Given the description of an element on the screen output the (x, y) to click on. 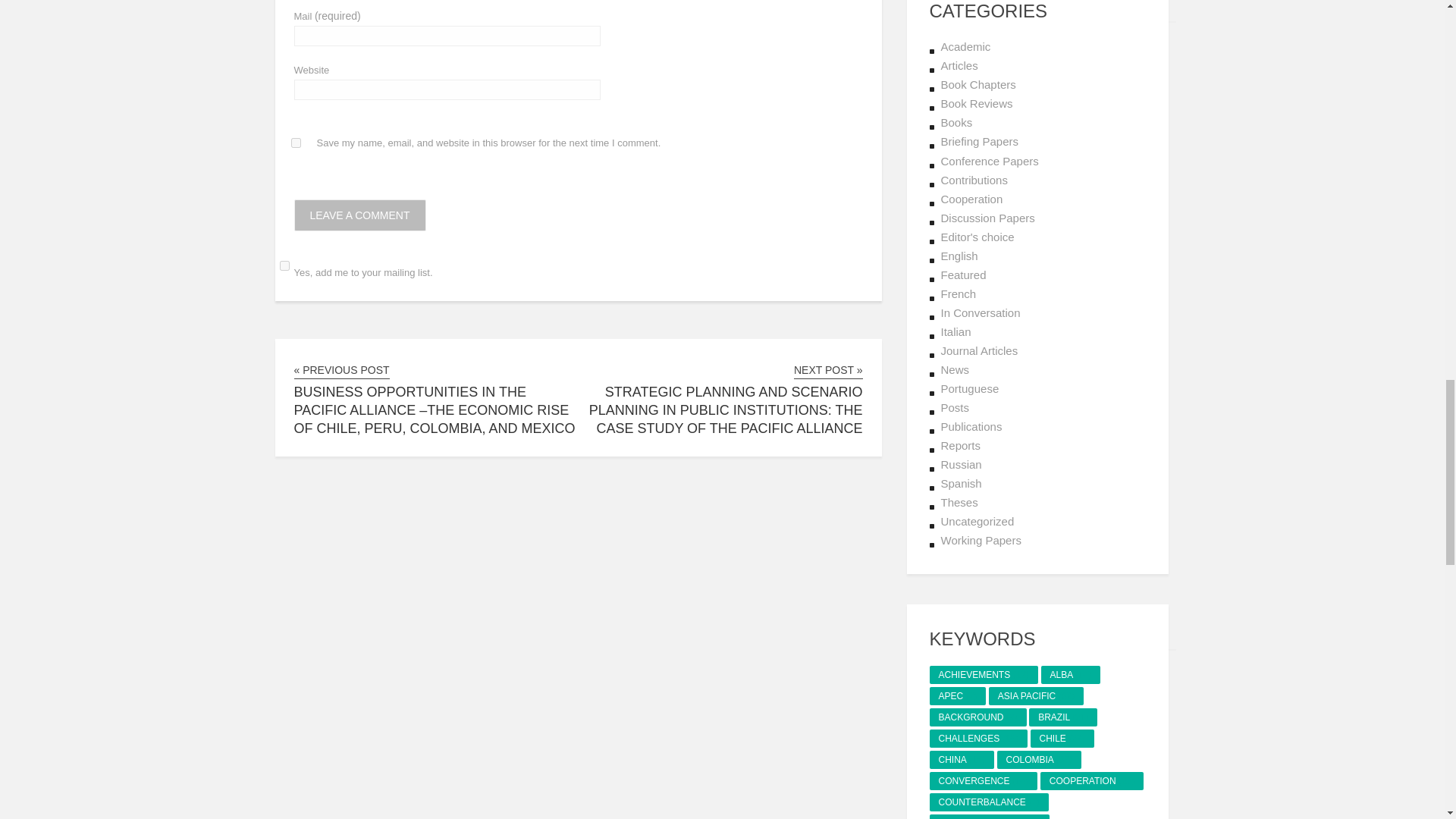
Leave a Comment (360, 214)
yes (295, 143)
1 (284, 266)
